Given the description of an element on the screen output the (x, y) to click on. 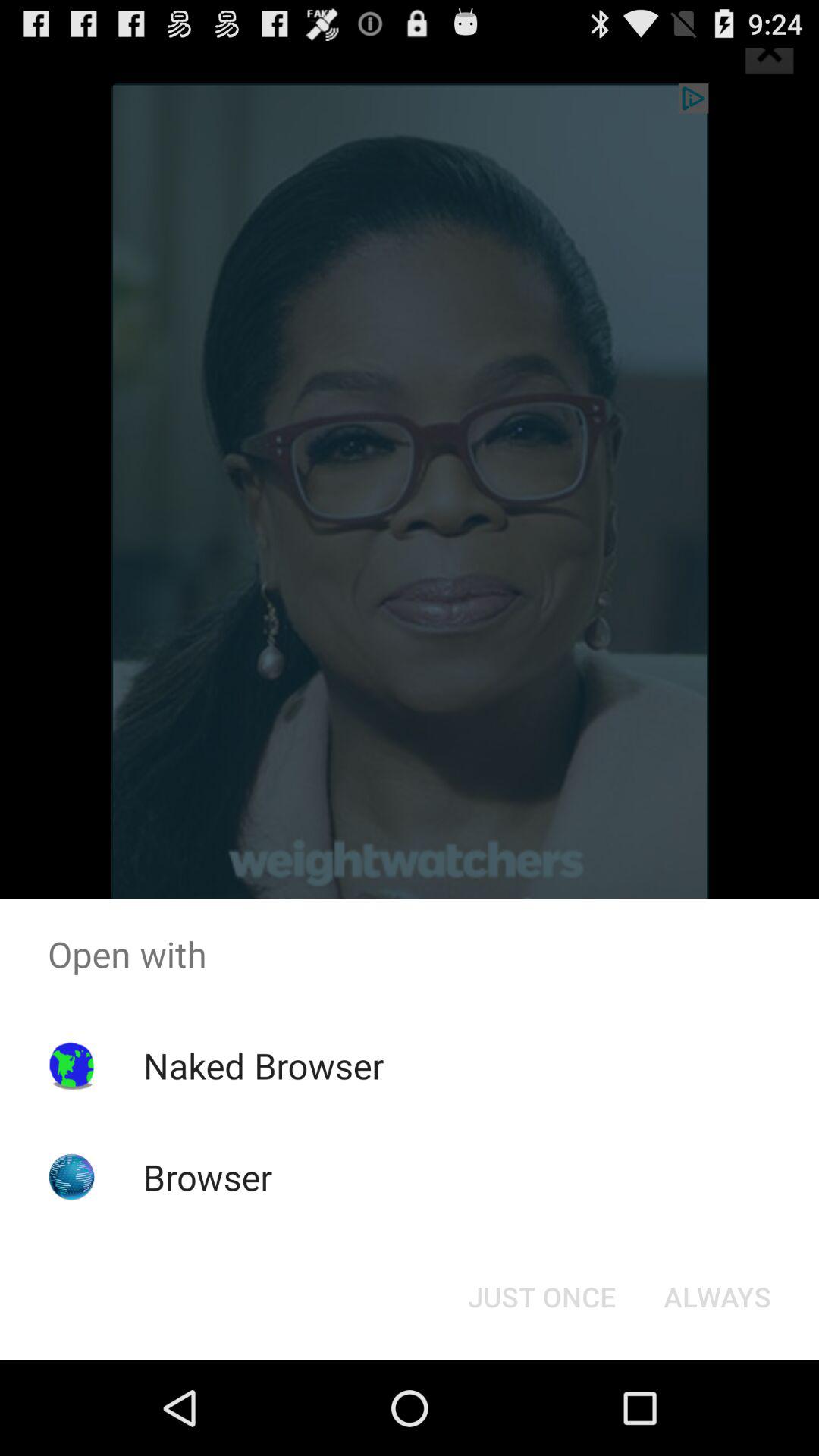
launch the item below the open with app (717, 1296)
